Given the description of an element on the screen output the (x, y) to click on. 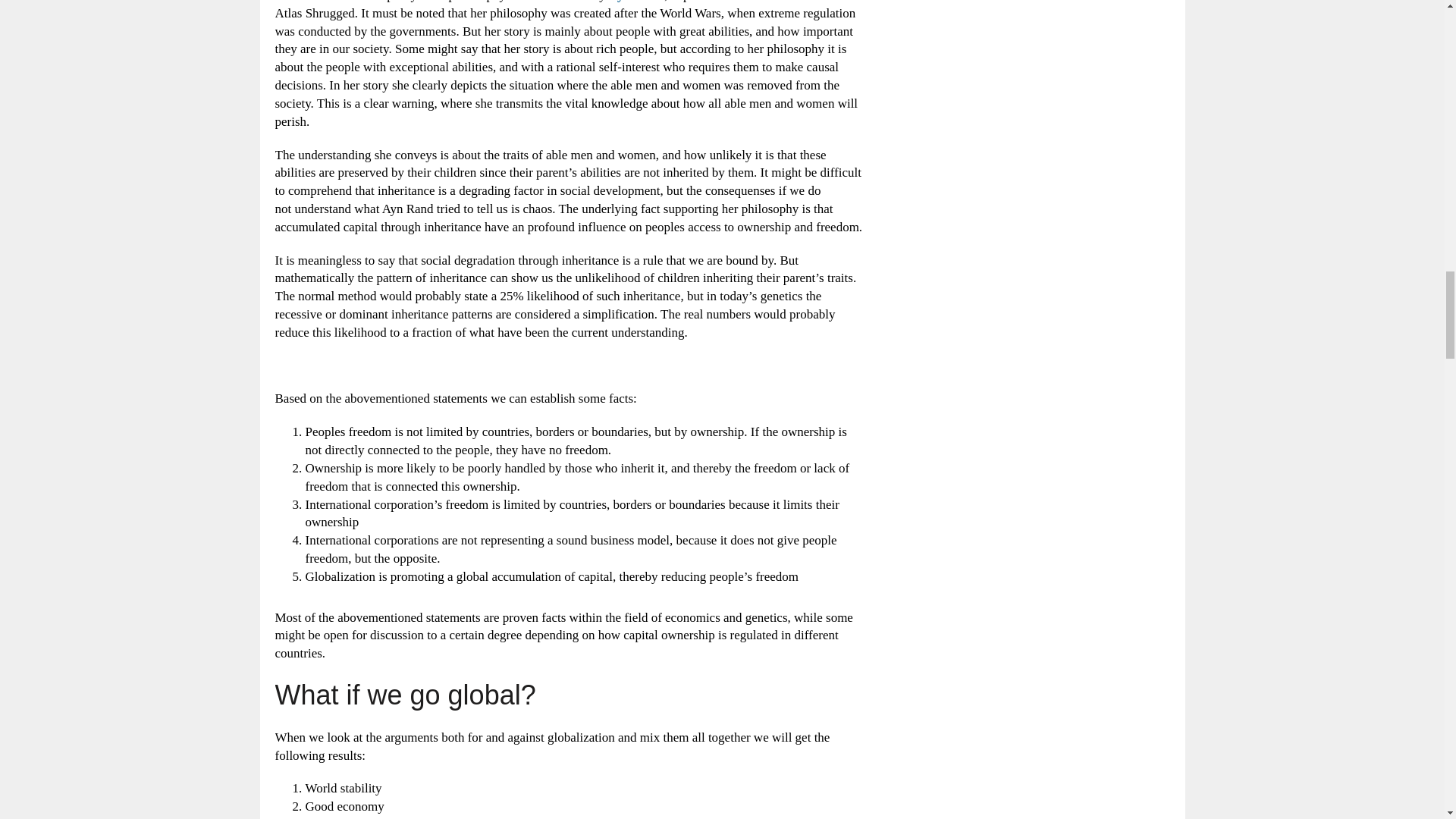
Ayn Rand (635, 1)
